Given the description of an element on the screen output the (x, y) to click on. 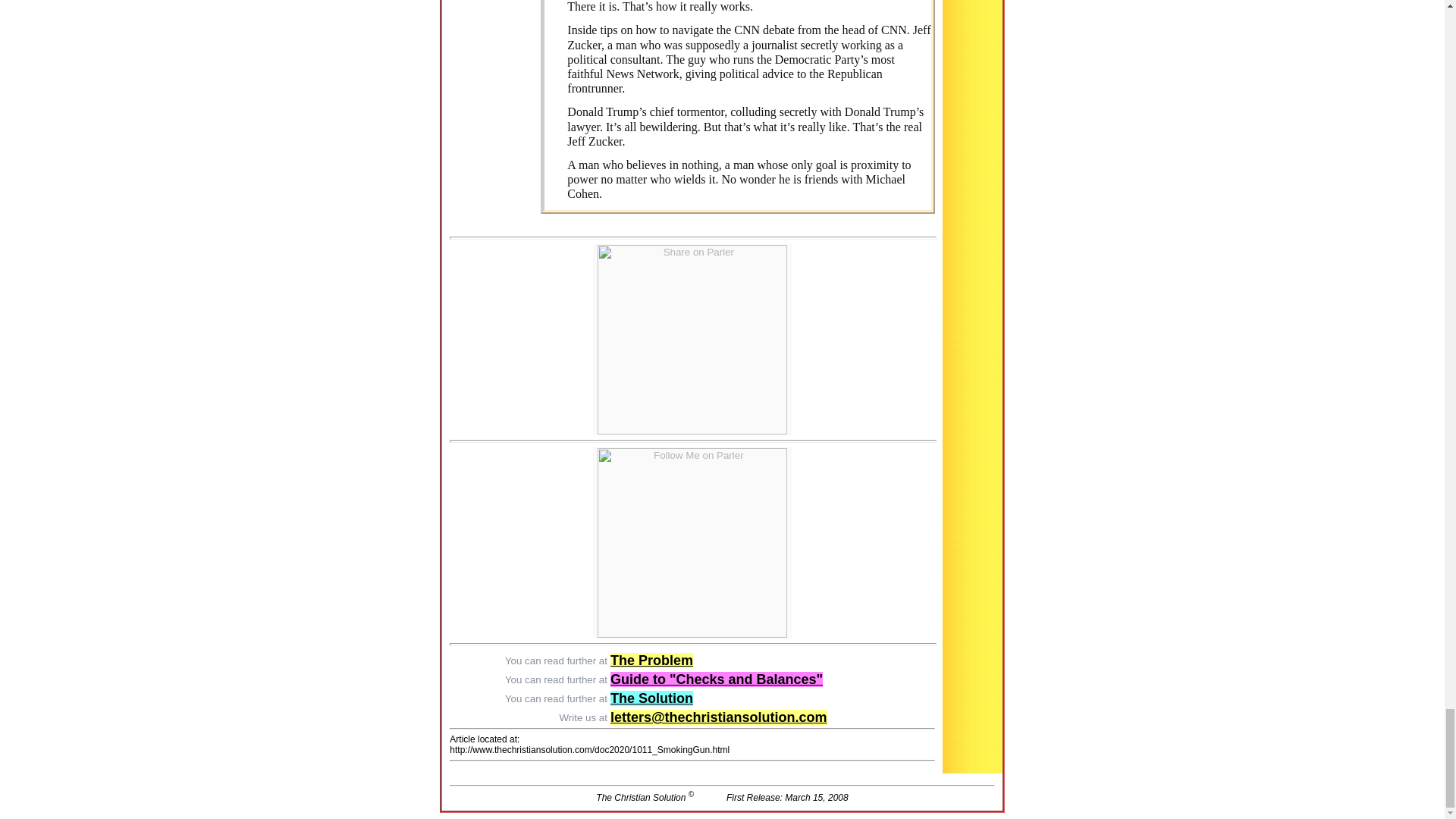
The Solution (651, 698)
Guide to "Checks and Balances" (716, 679)
The Problem (651, 660)
